Given the description of an element on the screen output the (x, y) to click on. 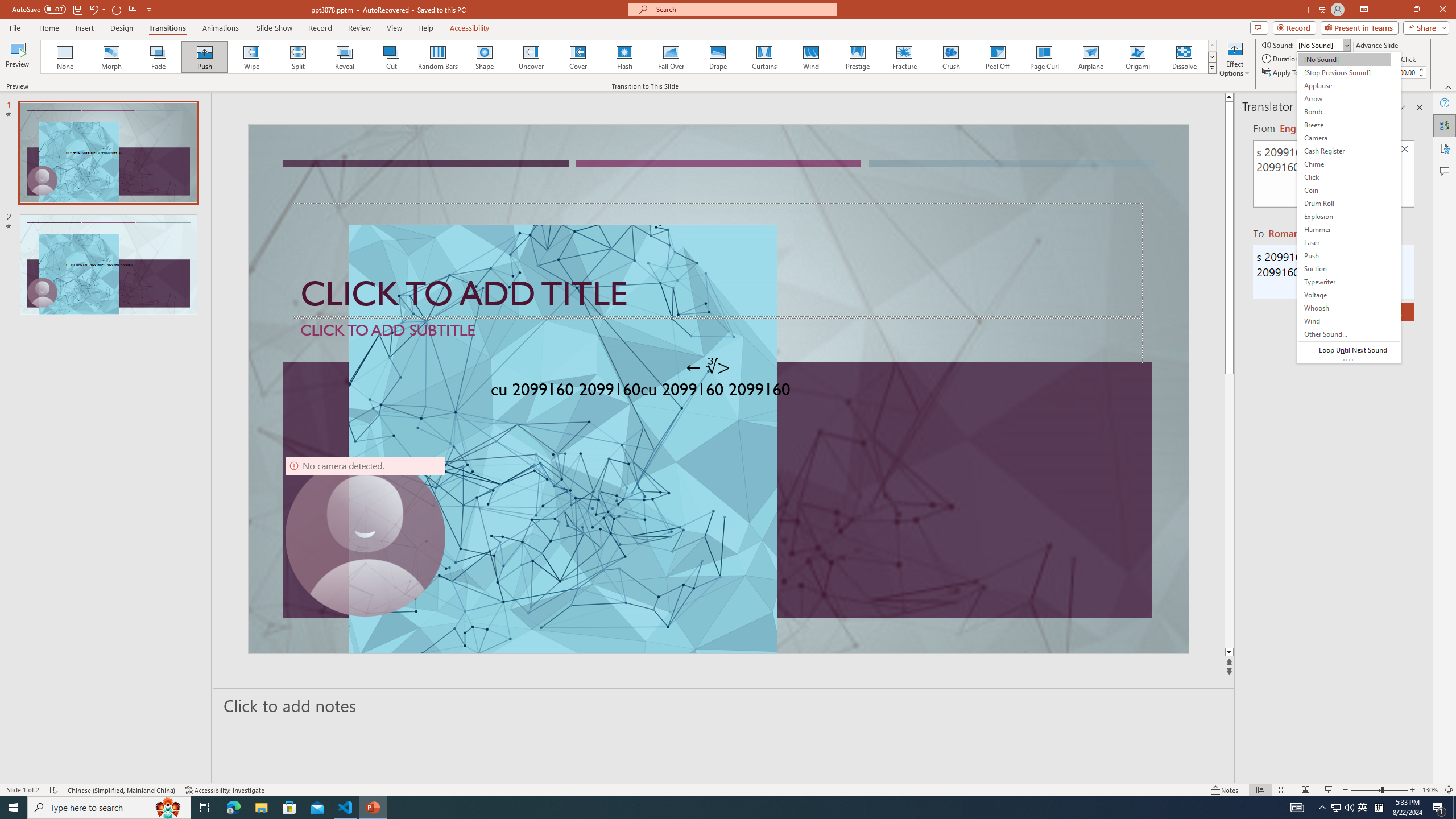
Drape (717, 56)
Title TextBox (717, 260)
Wind (810, 56)
Sound (1324, 44)
